Given the description of an element on the screen output the (x, y) to click on. 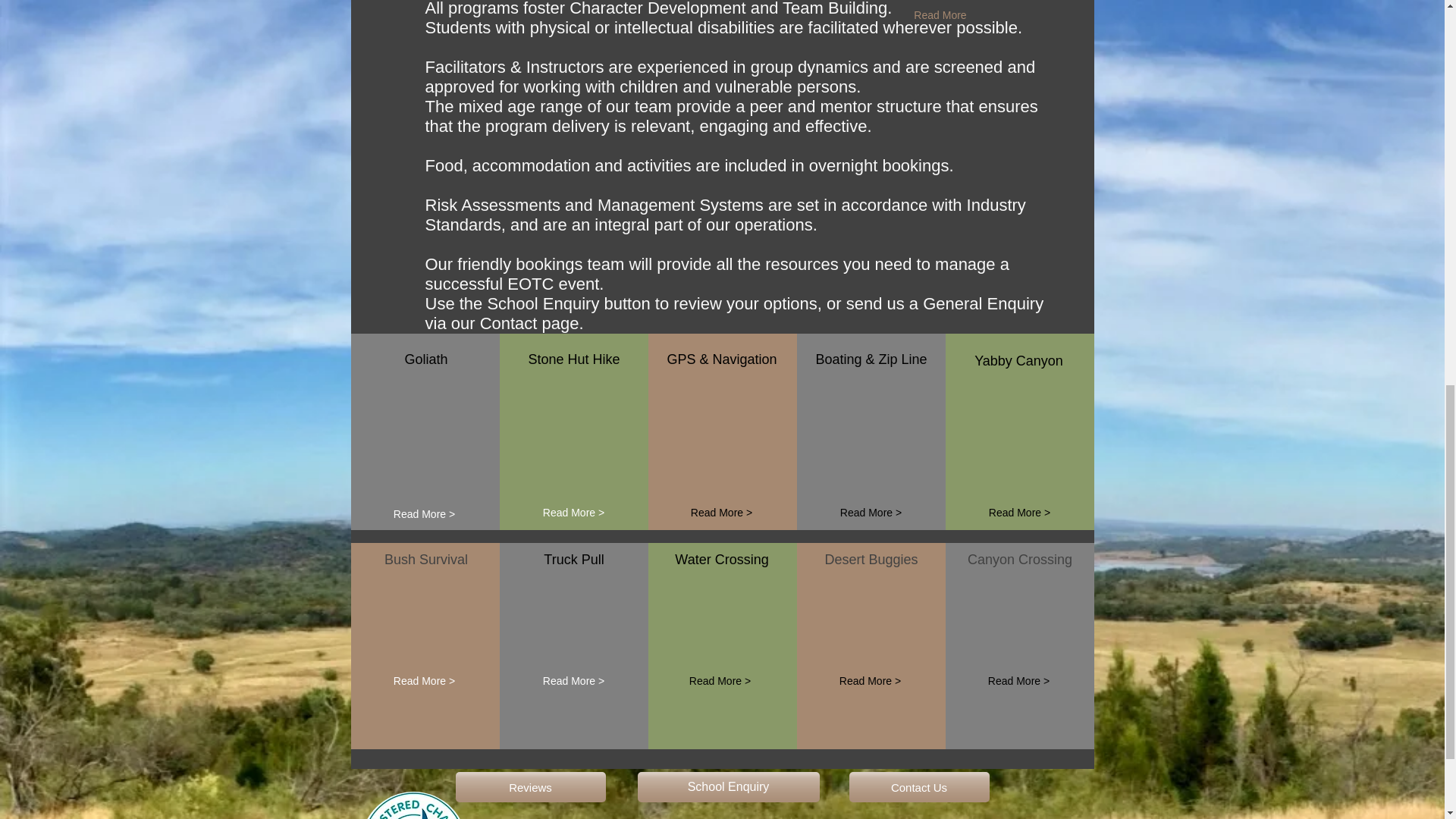
Contact Us (919, 787)
Reviews (529, 787)
Read More (939, 15)
School Enquiry (727, 787)
